Given the description of an element on the screen output the (x, y) to click on. 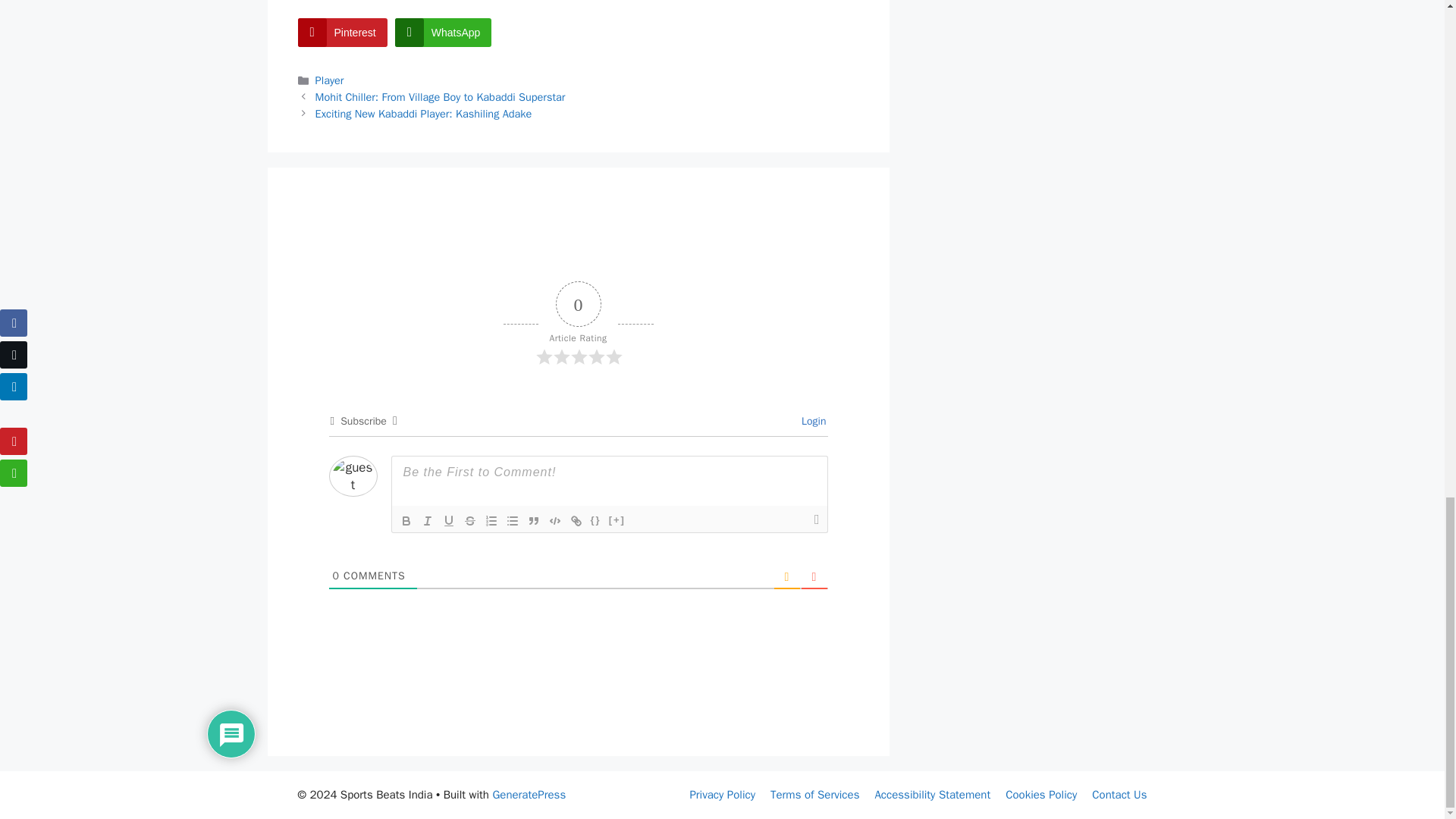
Spoiler (616, 520)
Unordered List (512, 520)
Italic (427, 520)
Underline (449, 520)
ordered (491, 520)
Code Block (555, 520)
Mohit Chiller: From Village Boy to Kabaddi Superstar (440, 97)
Exciting New Kabaddi Player: Kashiling Adake (423, 113)
Source Code (595, 520)
Blockquote (533, 520)
Bold (406, 520)
Player (329, 79)
Login (811, 420)
Ordered List (491, 520)
Link (576, 520)
